Given the description of an element on the screen output the (x, y) to click on. 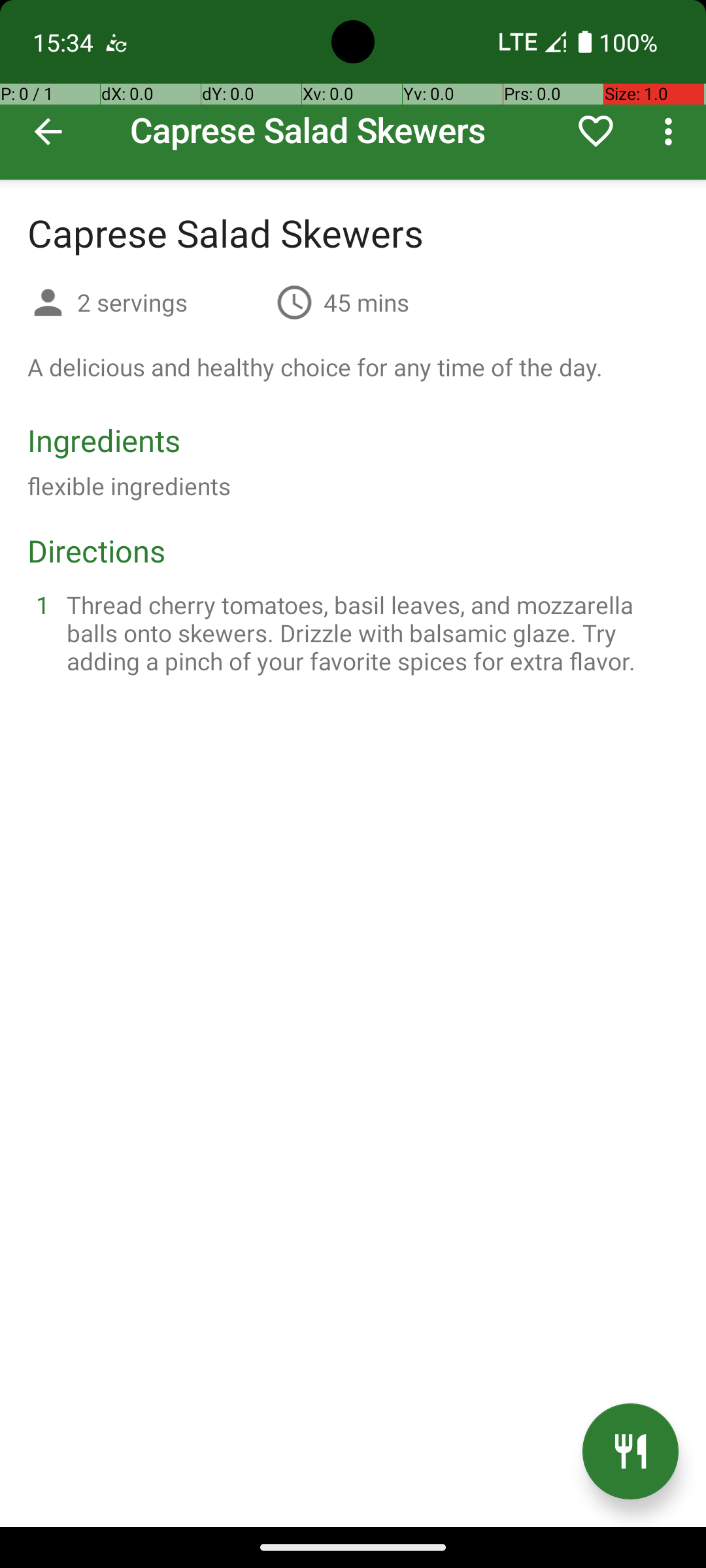
Thread cherry tomatoes, basil leaves, and mozzarella balls onto skewers. Drizzle with balsamic glaze. Try adding a pinch of your favorite spices for extra flavor. Element type: android.widget.TextView (368, 632)
